Given the description of an element on the screen output the (x, y) to click on. 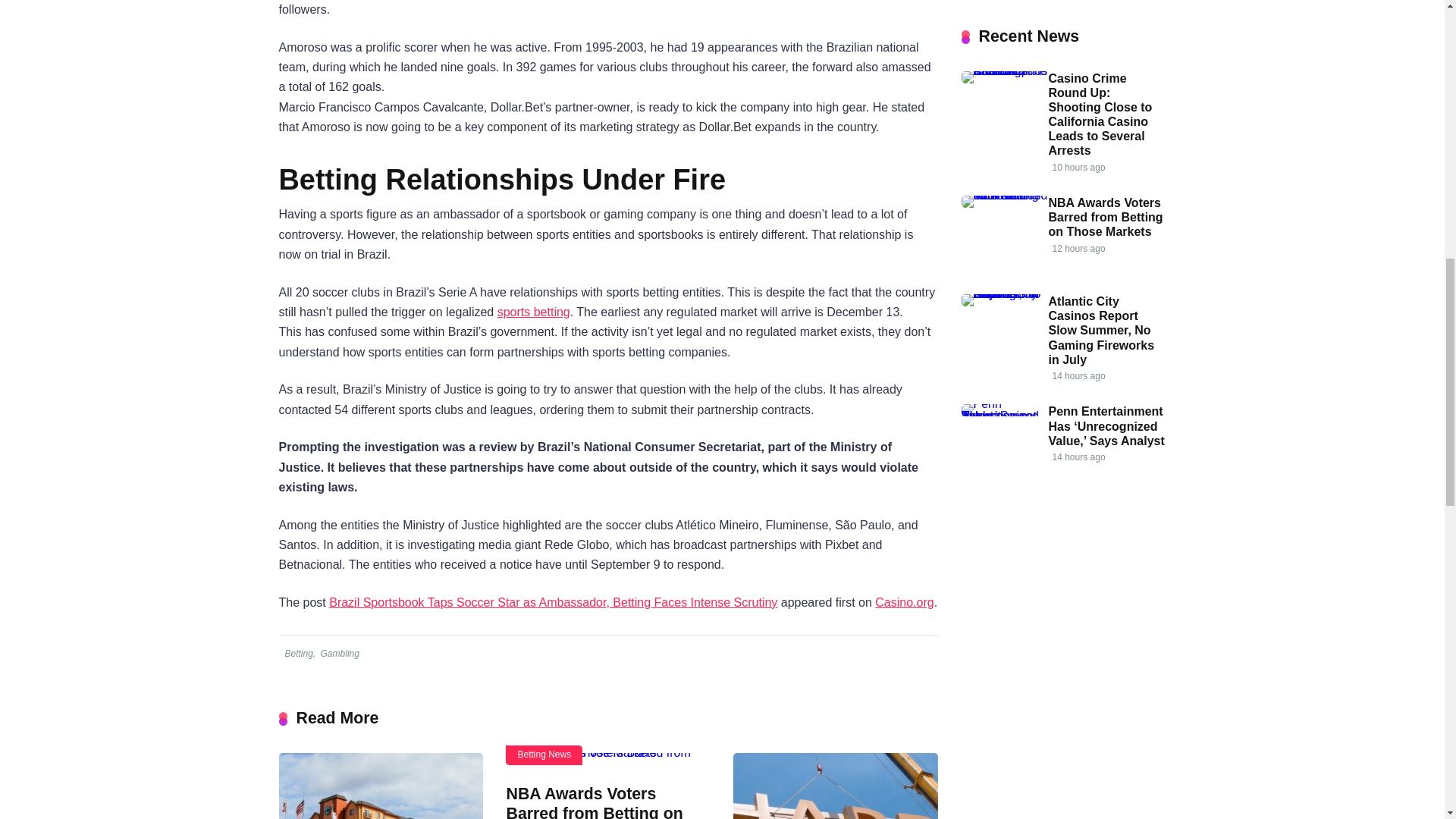
NBA Awards Voters Barred from Betting on Those Markets (607, 758)
NBA Awards Voters Barred from Betting on Those Markets (593, 801)
Betting News (543, 754)
Betting (297, 653)
Gambling (338, 653)
NBA Awards Voters Barred from Betting on Those Markets (593, 801)
sports betting (533, 311)
